Given the description of an element on the screen output the (x, y) to click on. 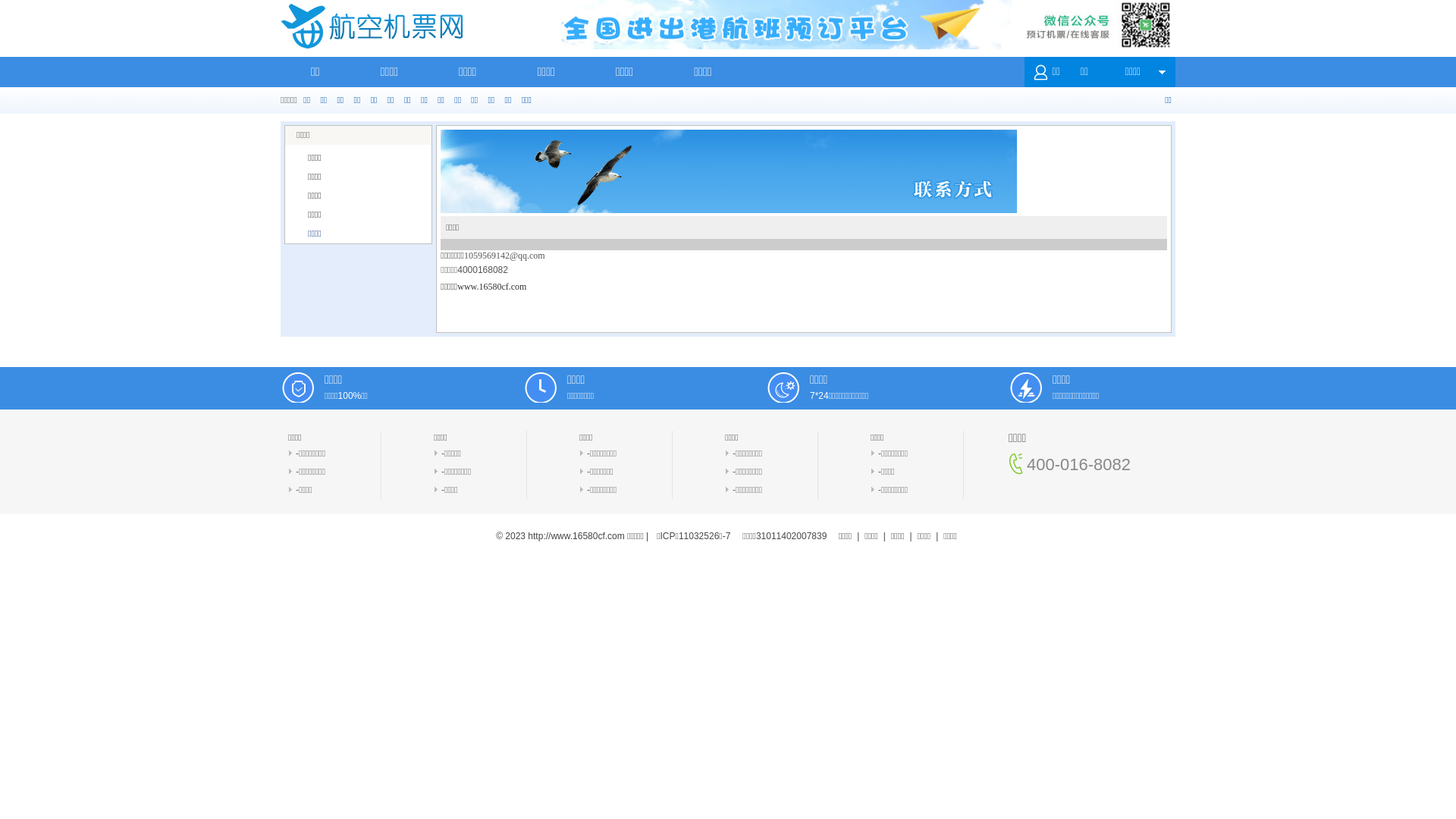
1059569142@qq.com Element type: text (504, 255)
